Given the description of an element on the screen output the (x, y) to click on. 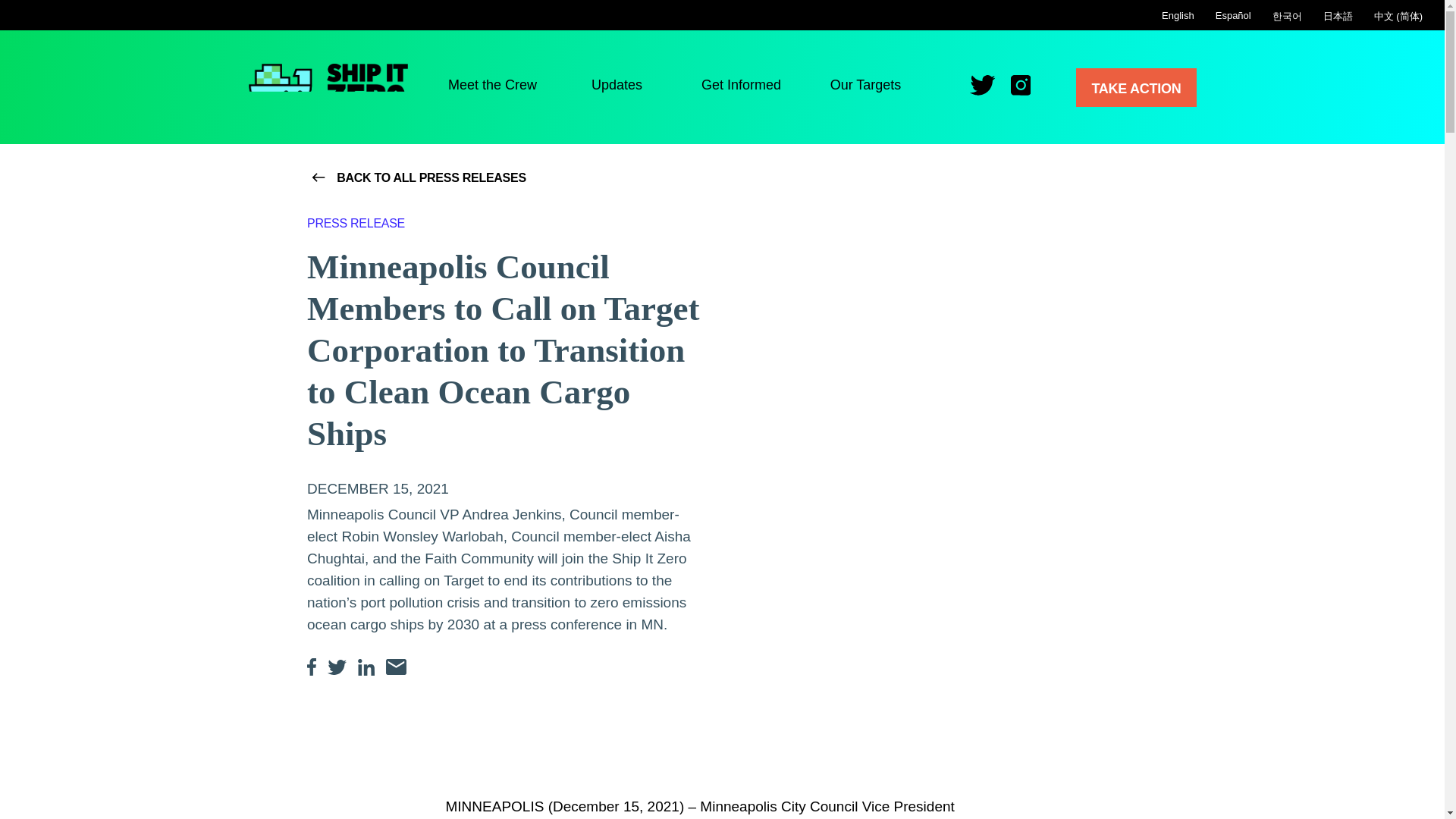
Language switcher : Korean (1287, 16)
Get Informed (741, 89)
Language switcher : Simplified Chinese (1397, 16)
Language switcher : Japanese (1337, 16)
Our Targets (865, 89)
Get Informed (741, 89)
Our Targets (865, 89)
TAKE ACTION (1135, 87)
Language switcher : Spanish (1233, 15)
Updates (616, 89)
